Given the description of an element on the screen output the (x, y) to click on. 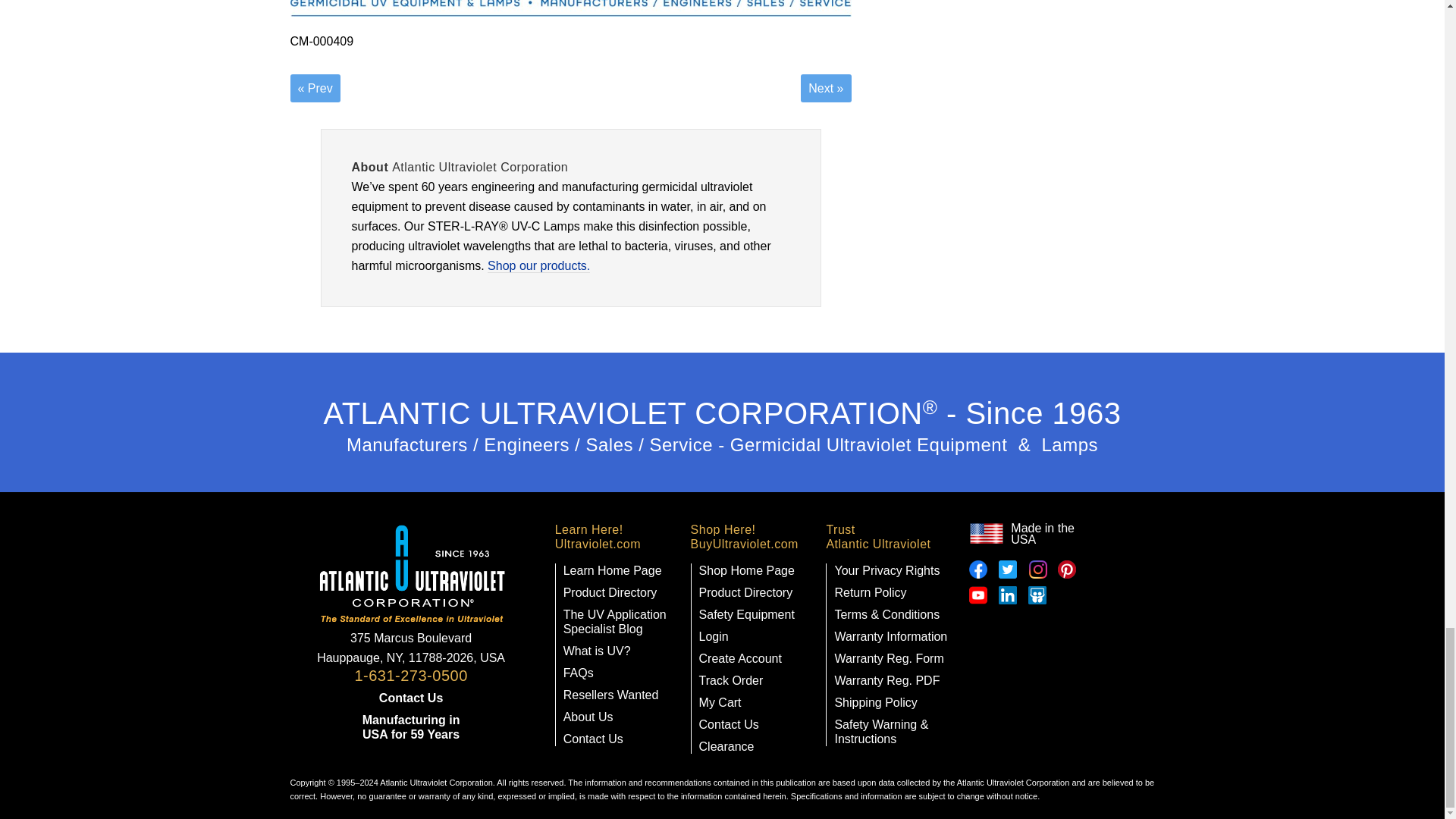
YouTube (978, 595)
Facebook (978, 569)
Linkedin (1007, 595)
Twitter (1007, 569)
Instagram (1037, 569)
Pinterest (1066, 569)
Slideshare (1036, 595)
